Given the description of an element on the screen output the (x, y) to click on. 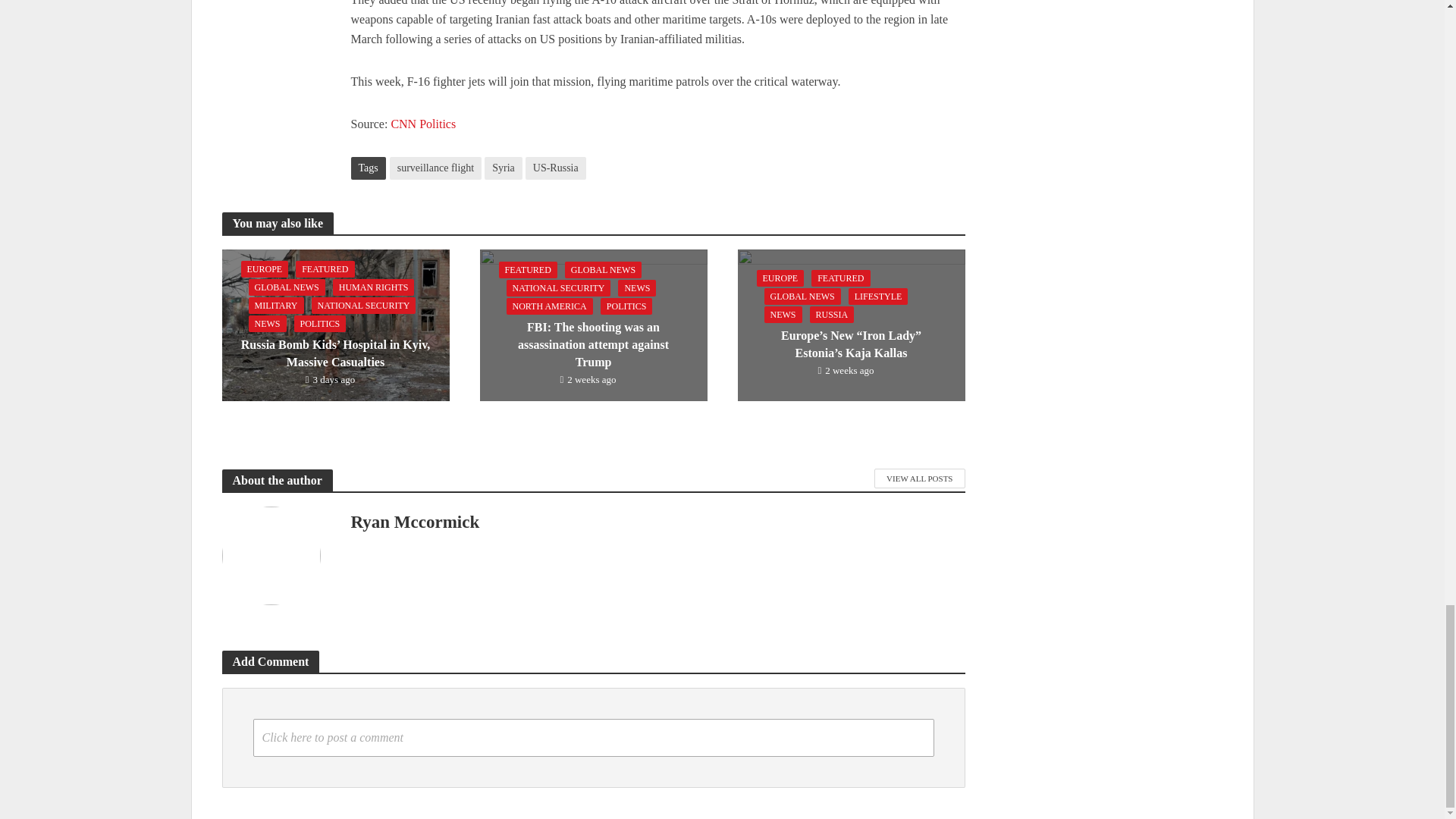
FBI: The shooting was an assassination attempt against Trump (592, 323)
